Given the description of an element on the screen output the (x, y) to click on. 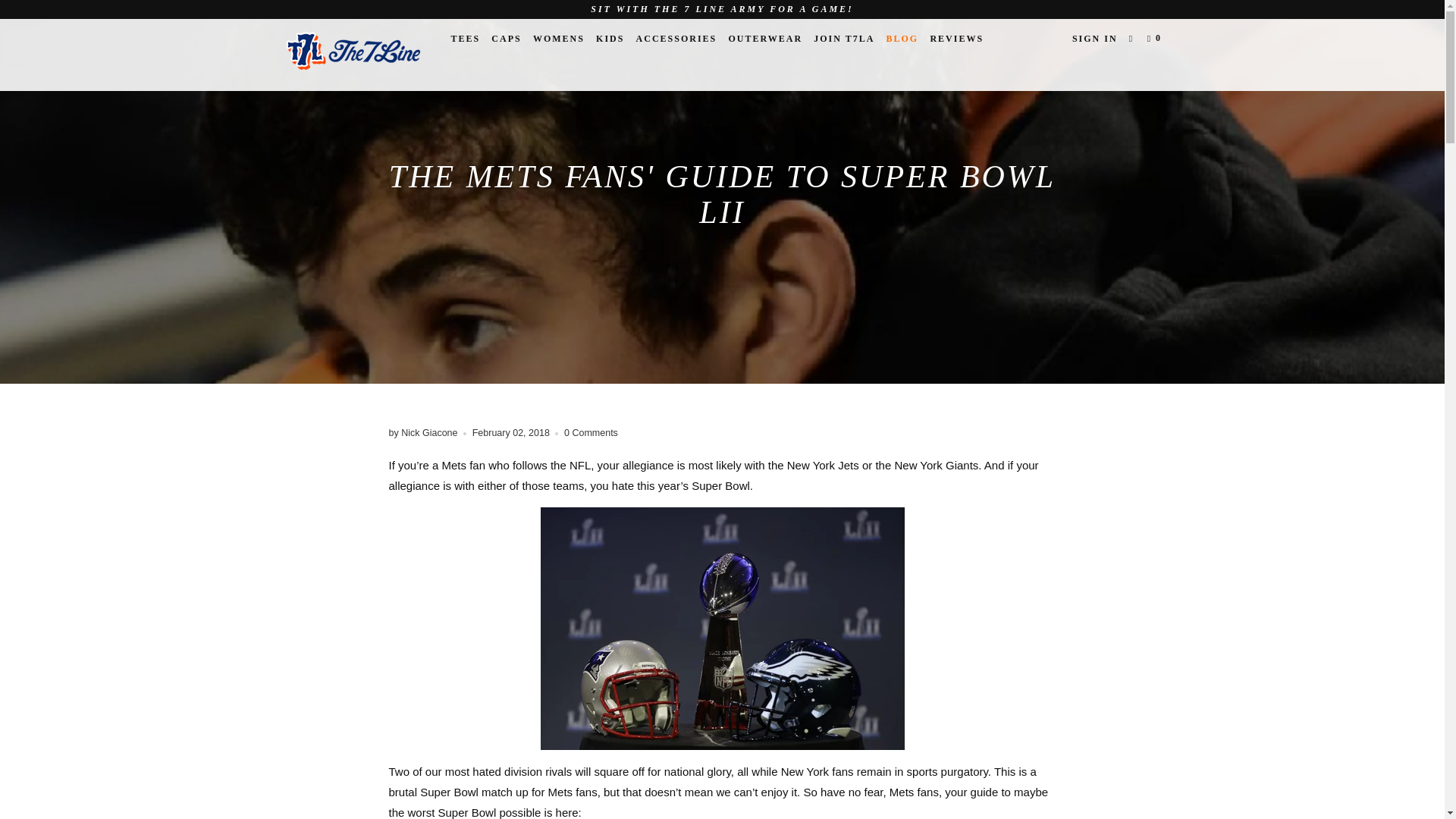
REVIEWS (956, 38)
OUTERWEAR (765, 38)
WOMENS (558, 38)
The 7 Line (352, 54)
CAPS (505, 38)
JOIN T7LA (843, 38)
BLOG (902, 38)
KIDS (609, 38)
My Account  (1094, 38)
0 Comments (590, 432)
0 (1155, 38)
SIGN IN (1094, 38)
TEES (464, 38)
ACCESSORIES (676, 38)
